Given the description of an element on the screen output the (x, y) to click on. 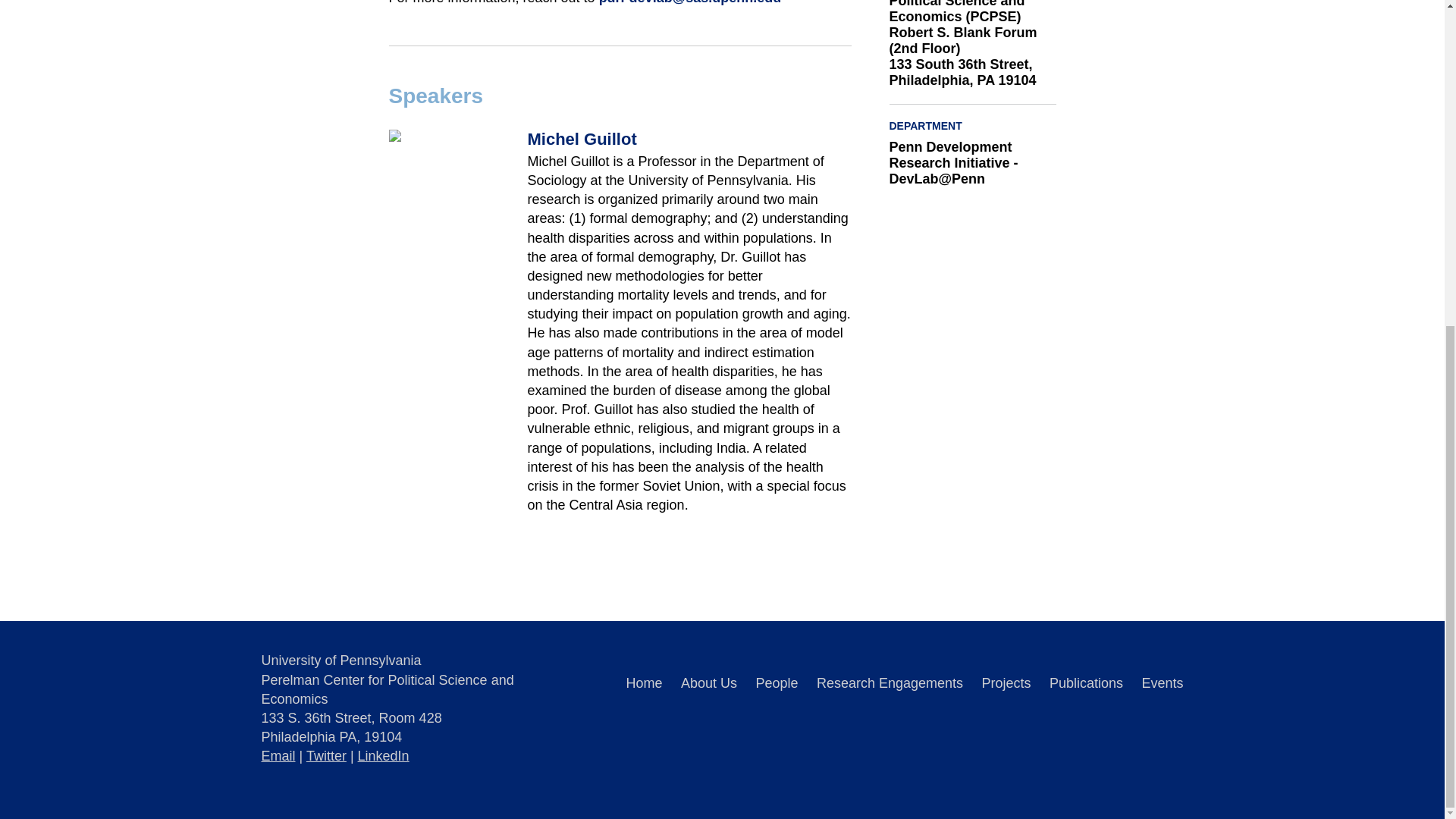
Home (644, 683)
Email (277, 755)
LinkedIn (383, 755)
About Us (708, 683)
Twitter (325, 755)
